Given the description of an element on the screen output the (x, y) to click on. 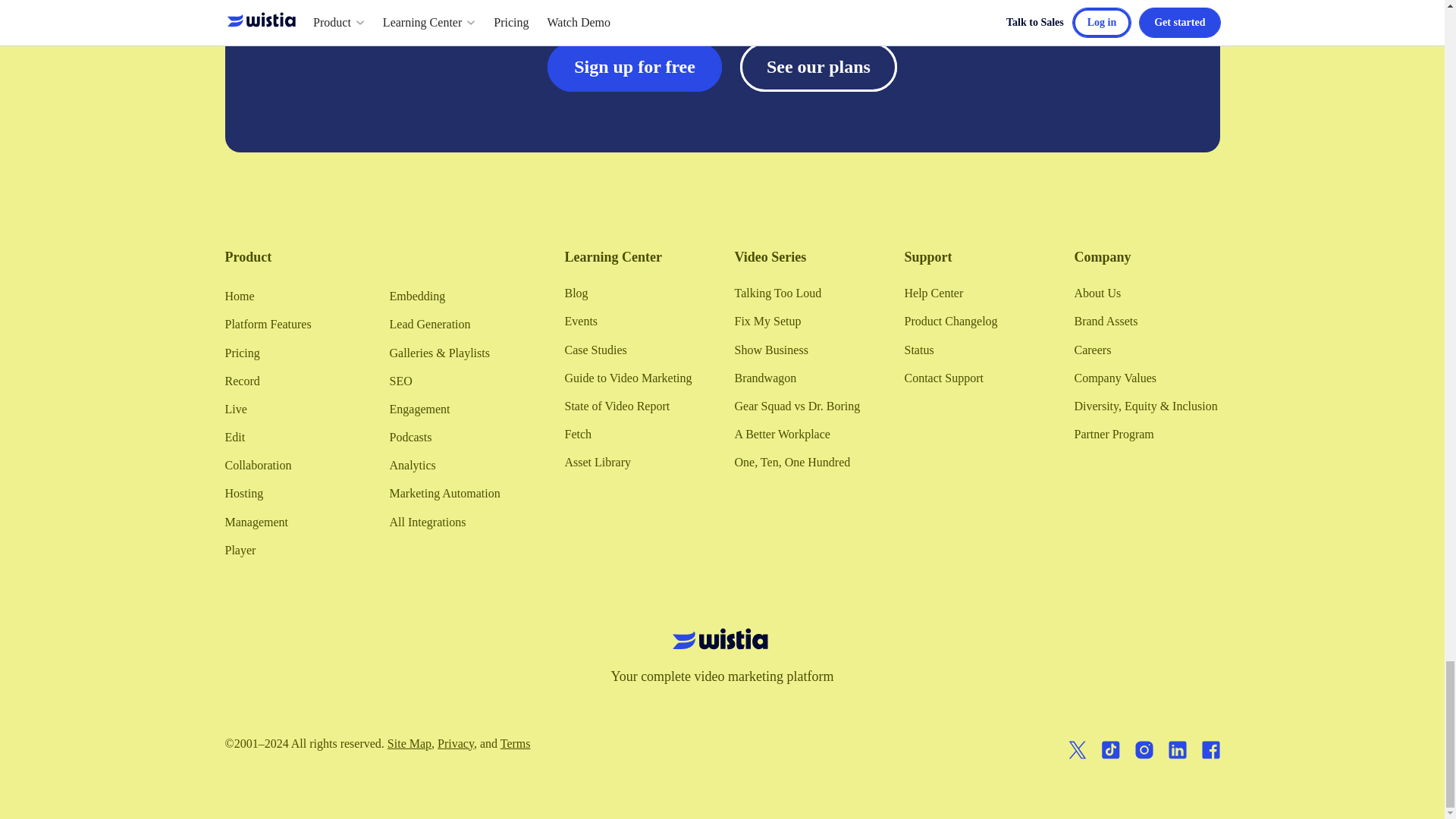
See our plans (817, 66)
Follow us on X (1076, 752)
Follow us on TikTok (1109, 752)
Follow us on LinkedIn (1176, 752)
Follow us on Instagram (1143, 752)
Follow us on Facebook (1210, 752)
Sign up for free (634, 66)
